Given the description of an element on the screen output the (x, y) to click on. 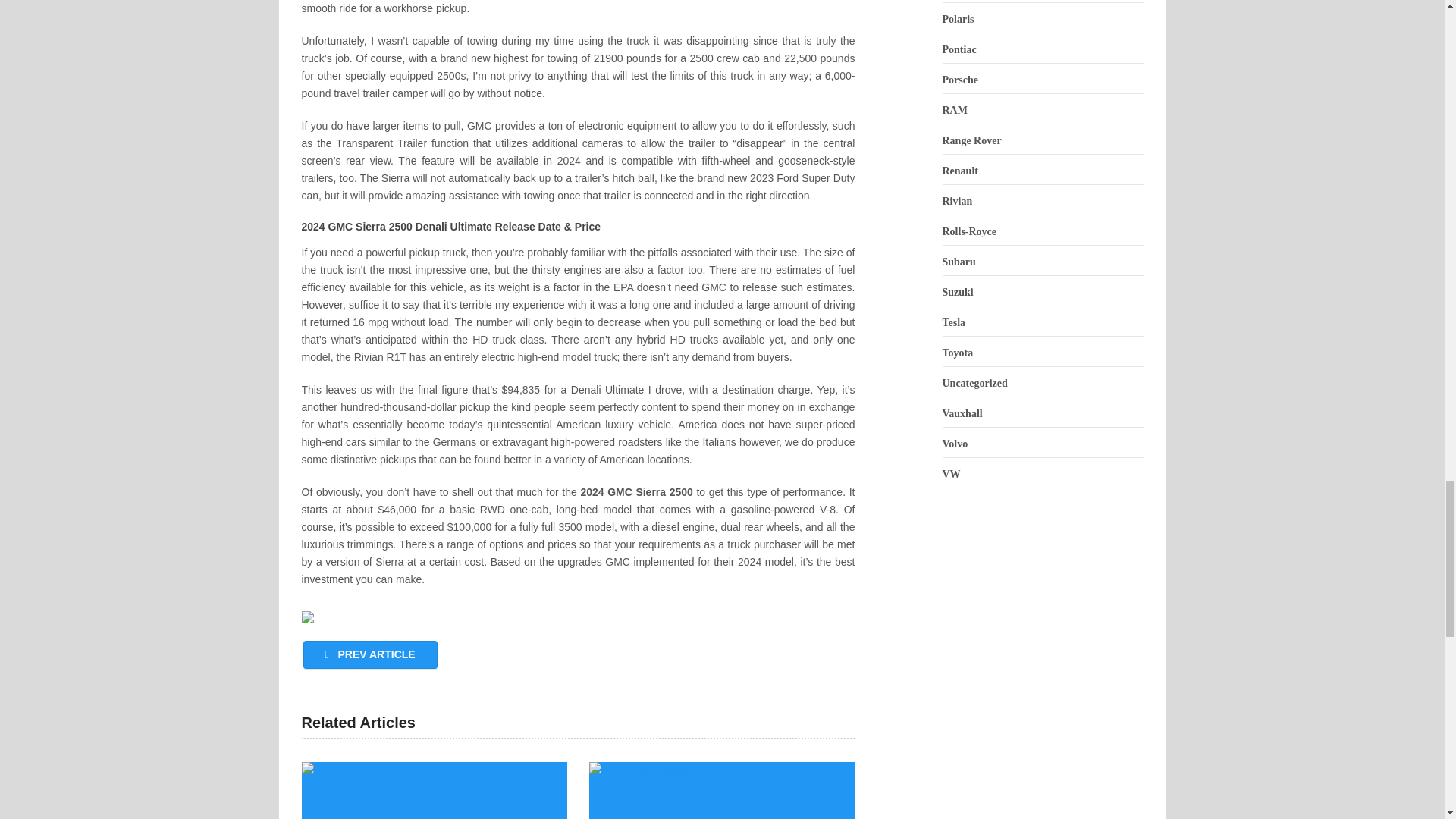
2024 GMC Sierra EV: What We Know So Far (434, 790)
2024 GMC Acadia: Is GMC Acadia Coming Back? (721, 790)
